Given the description of an element on the screen output the (x, y) to click on. 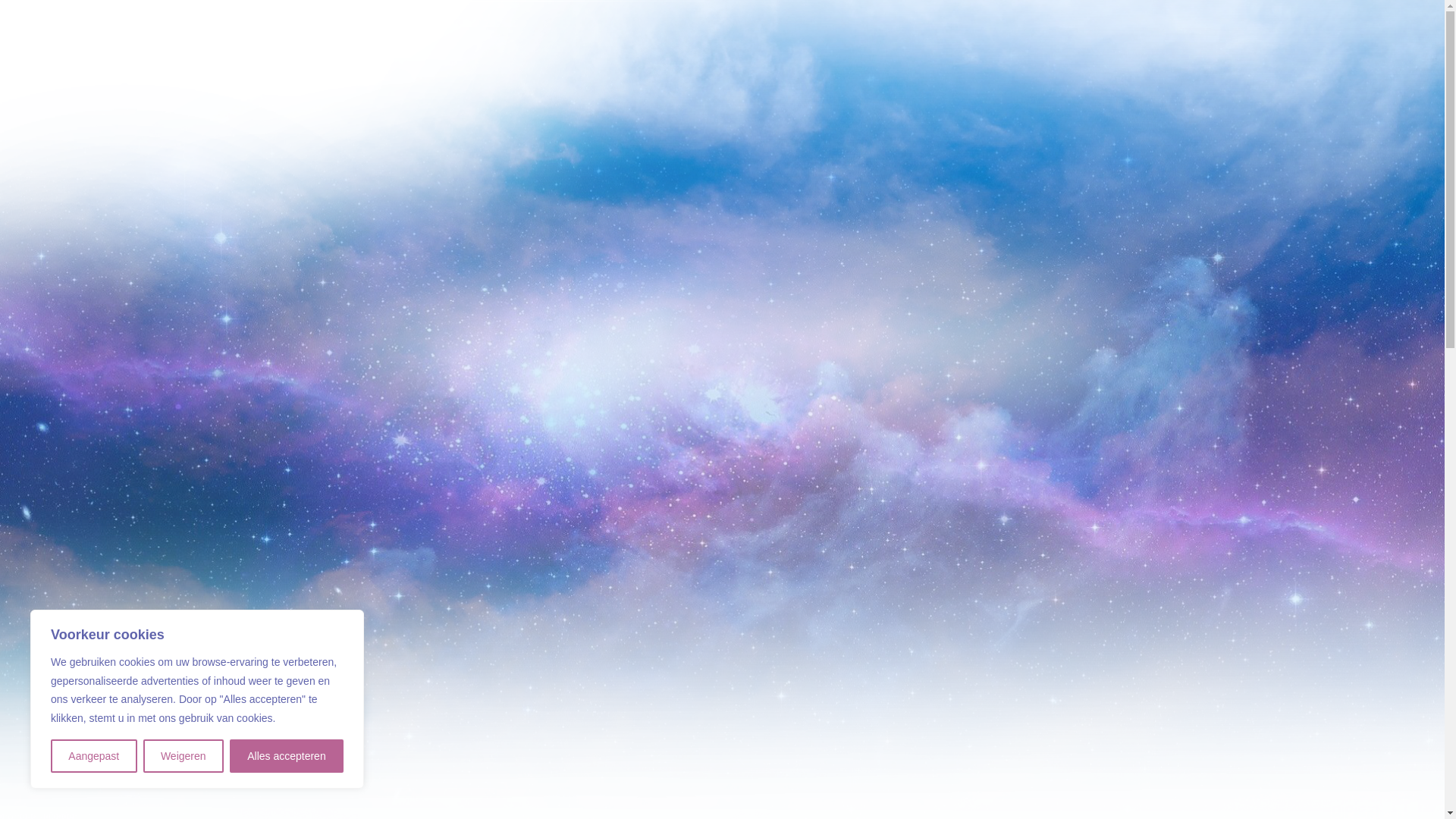
Alles accepteren Element type: text (286, 755)
Weigeren Element type: text (183, 755)
Aangepast Element type: text (93, 755)
